Given the description of an element on the screen output the (x, y) to click on. 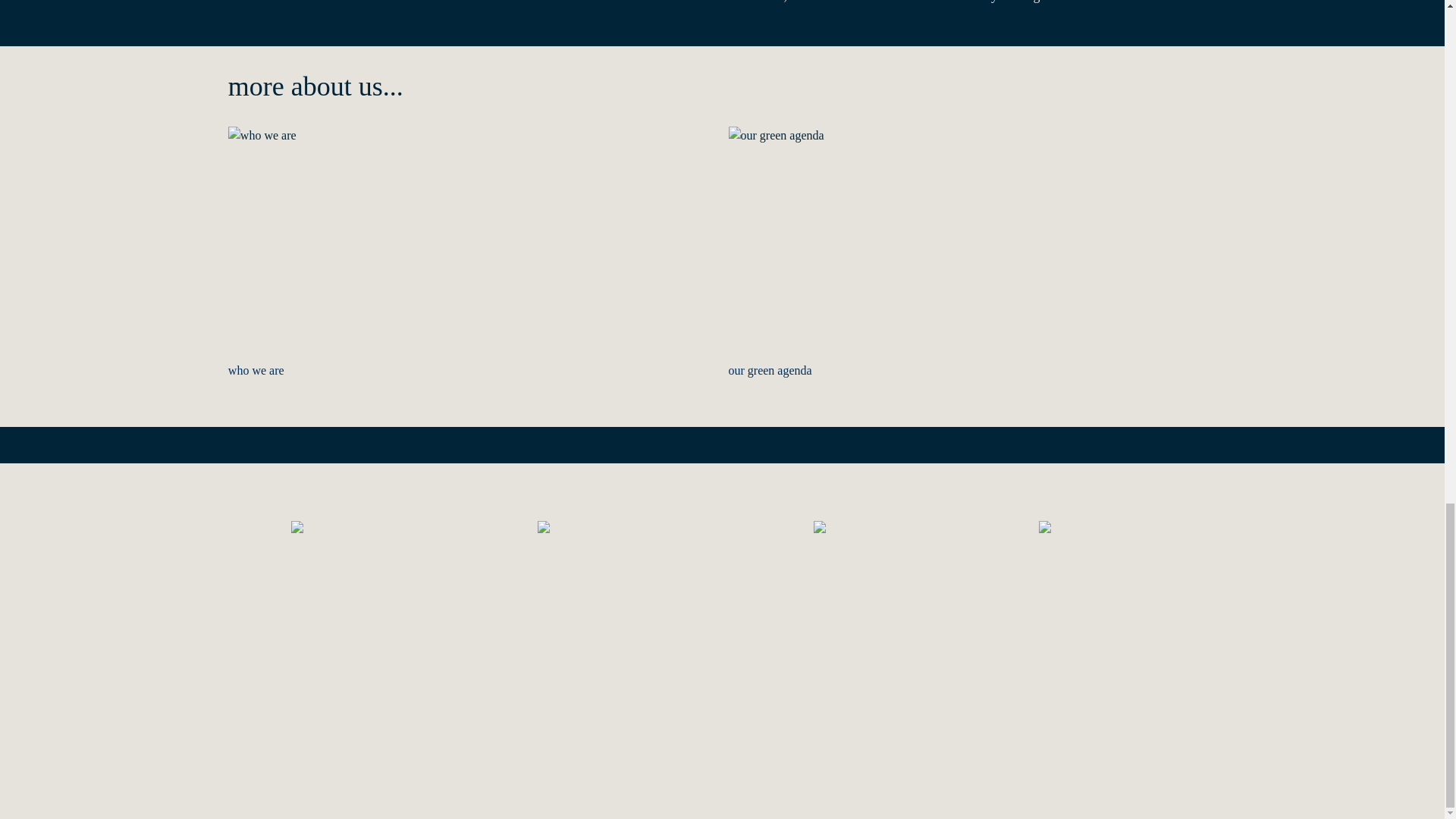
who we are (472, 253)
pocket adventures (346, 560)
our green agenda (971, 253)
